Given the description of an element on the screen output the (x, y) to click on. 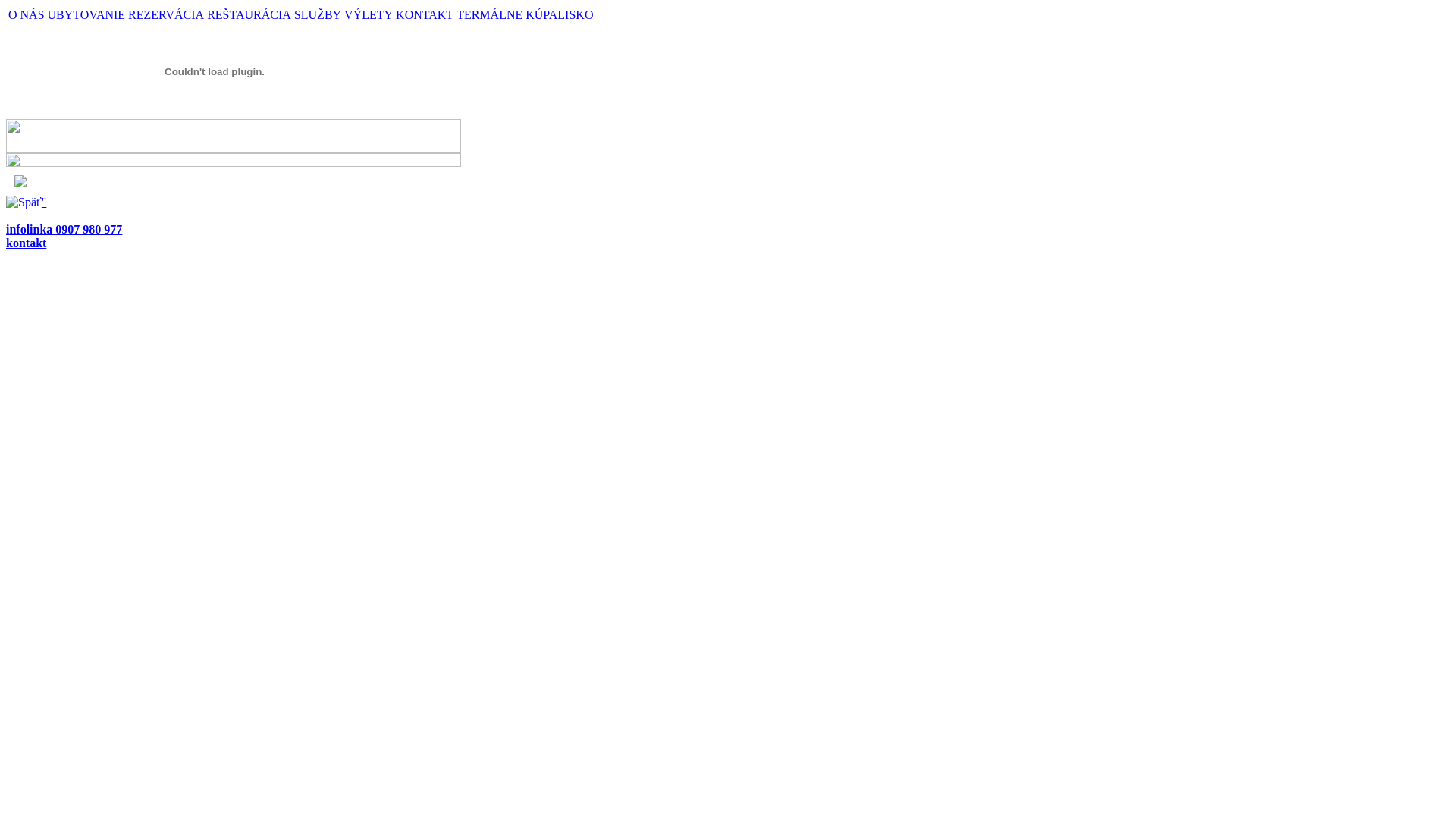
infolinka 0907 980 977
kontakt Element type: text (64, 235)
KONTAKT Element type: text (424, 14)
" Element type: text (44, 201)
UBYTOVANIE Element type: text (86, 14)
